Given the description of an element on the screen output the (x, y) to click on. 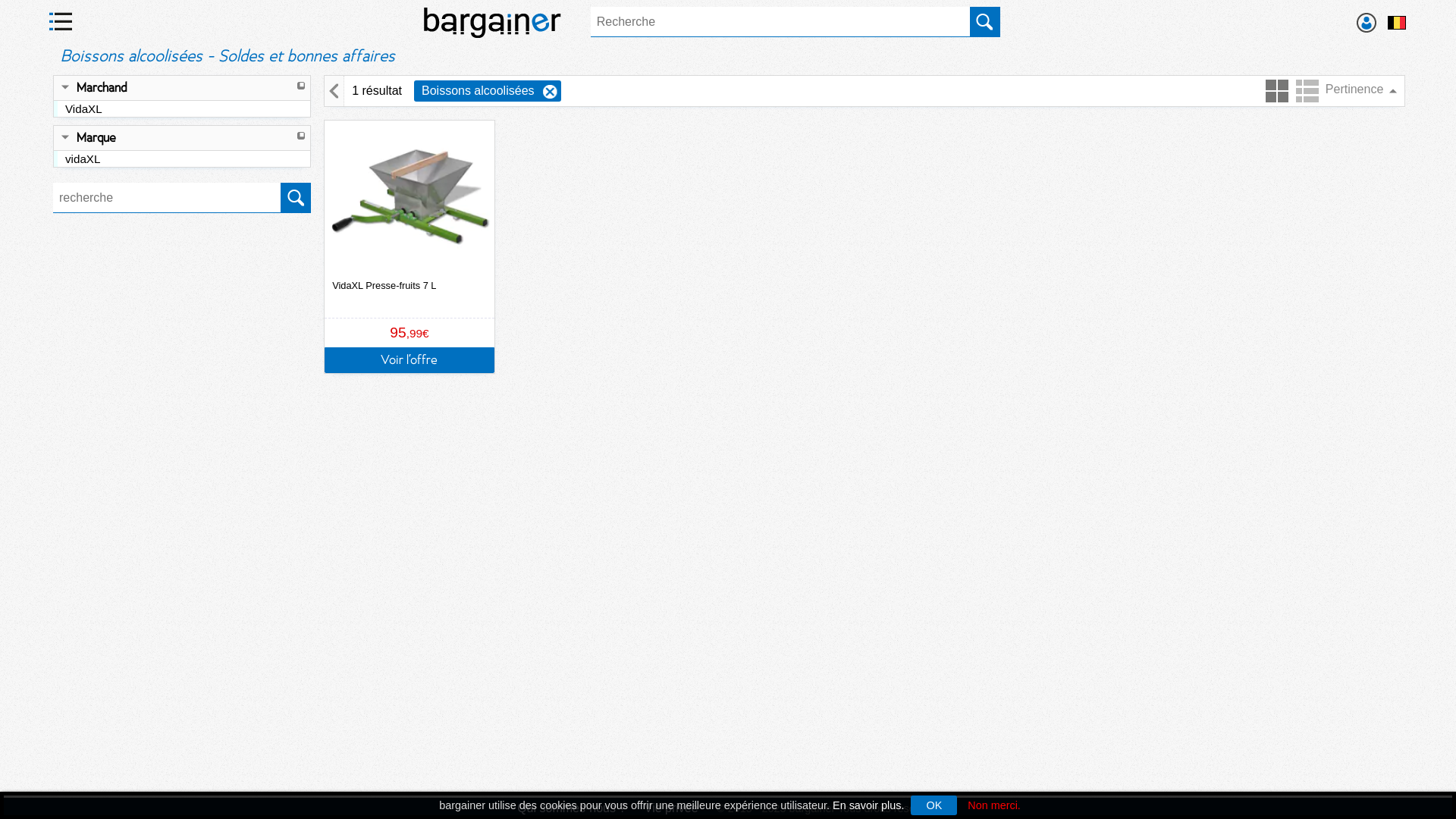
Mon compte Element type: hover (1366, 22)
Submit Element type: text (984, 21)
Submit Element type: text (295, 197)
En savoir plus. Element type: text (867, 805)
Langue Element type: hover (1396, 22)
VidaXL Presse-fruits 7 L Element type: text (409, 218)
